Given the description of an element on the screen output the (x, y) to click on. 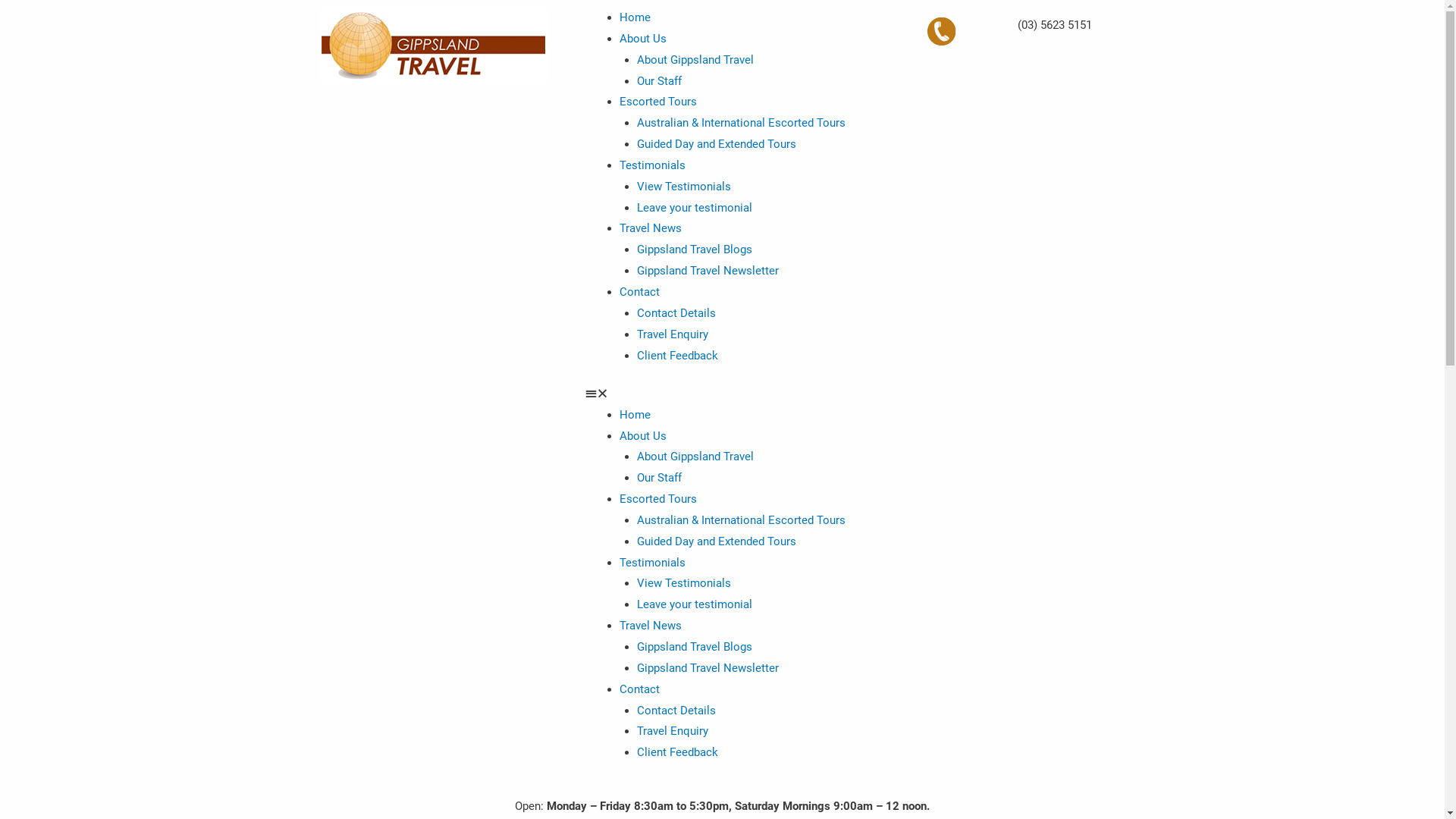
About Us Element type: text (642, 435)
Leave your testimonial Element type: text (694, 604)
Guided Day and Extended Tours Element type: text (716, 541)
Gippsland Travel Blogs Element type: text (694, 249)
Our Staff Element type: text (659, 80)
Contact Element type: text (639, 291)
Escorted Tours Element type: text (657, 101)
Home Element type: text (634, 414)
Gippsland Travel Blogs Element type: text (694, 646)
Client Feedback Element type: text (677, 752)
Guided Day and Extended Tours Element type: text (716, 143)
Escorted Tours Element type: text (657, 498)
Travel News Element type: text (650, 228)
Travel News Element type: text (650, 625)
Testimonials Element type: text (652, 562)
Home Element type: text (634, 17)
Gippsland Travel Newsletter Element type: text (707, 270)
Testimonials Element type: text (652, 165)
Travel Enquiry Element type: text (672, 730)
Contact Element type: text (639, 689)
About Gippsland Travel Element type: text (695, 456)
Contact Details Element type: text (676, 313)
Leave your testimonial Element type: text (694, 207)
About Gippsland Travel Element type: text (695, 59)
View Testimonials Element type: text (684, 582)
Contact Details Element type: text (676, 710)
Australian & International Escorted Tours Element type: text (741, 520)
Travel Enquiry Element type: text (672, 334)
View Testimonials Element type: text (684, 186)
Gippsland Travel Newsletter Element type: text (707, 667)
Australian & International Escorted Tours Element type: text (741, 122)
Our Staff Element type: text (659, 477)
Client Feedback Element type: text (677, 355)
About Us Element type: text (642, 38)
